Given the description of an element on the screen output the (x, y) to click on. 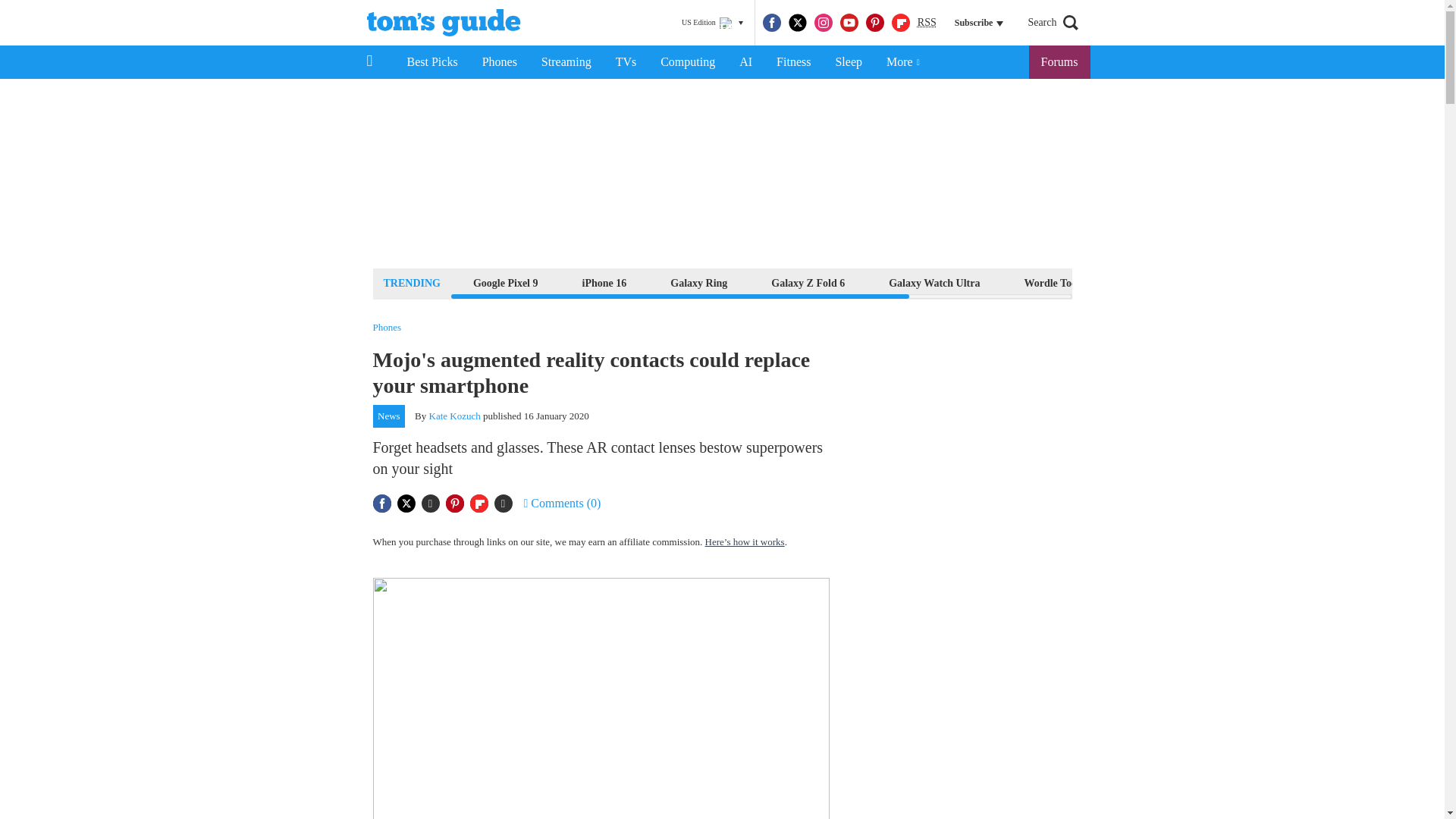
Phones (499, 61)
Best Picks (431, 61)
Sleep (848, 61)
Streaming (566, 61)
Computing (686, 61)
TVs (626, 61)
AI (745, 61)
Fitness (793, 61)
RSS (926, 22)
Really Simple Syndication (926, 21)
